Given the description of an element on the screen output the (x, y) to click on. 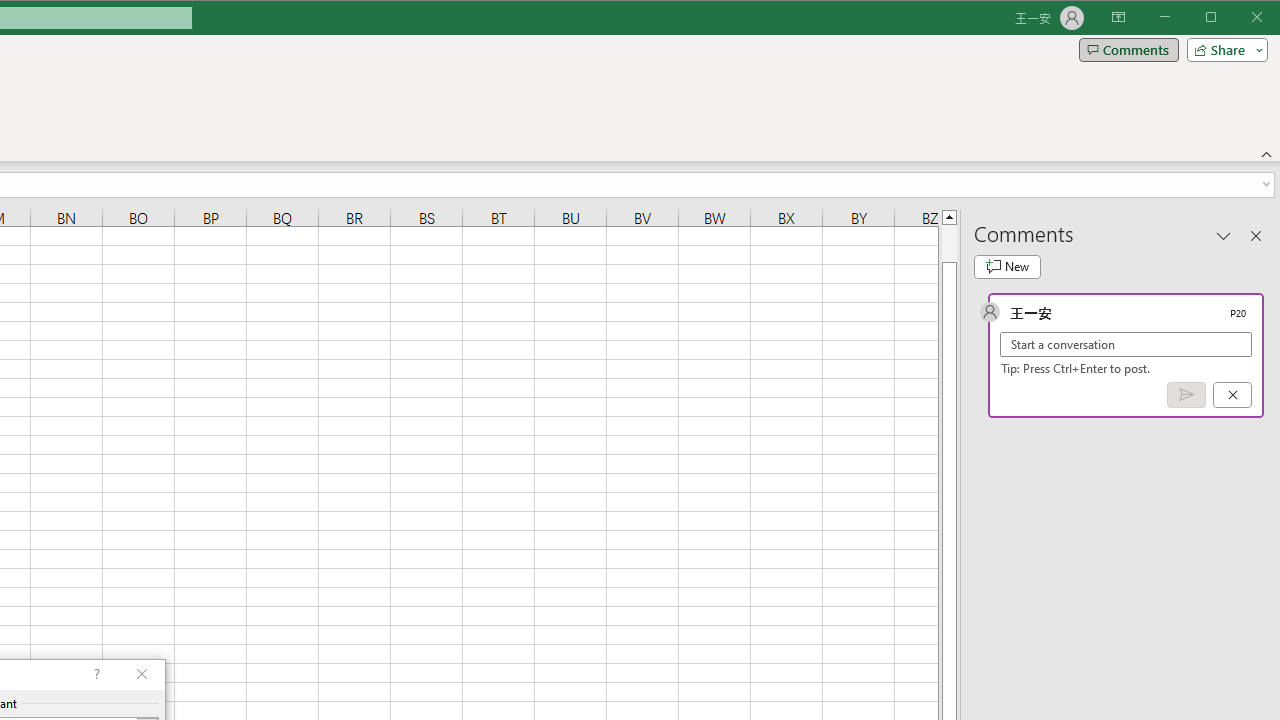
Cancel (1232, 395)
Line up (948, 216)
